Given the description of an element on the screen output the (x, y) to click on. 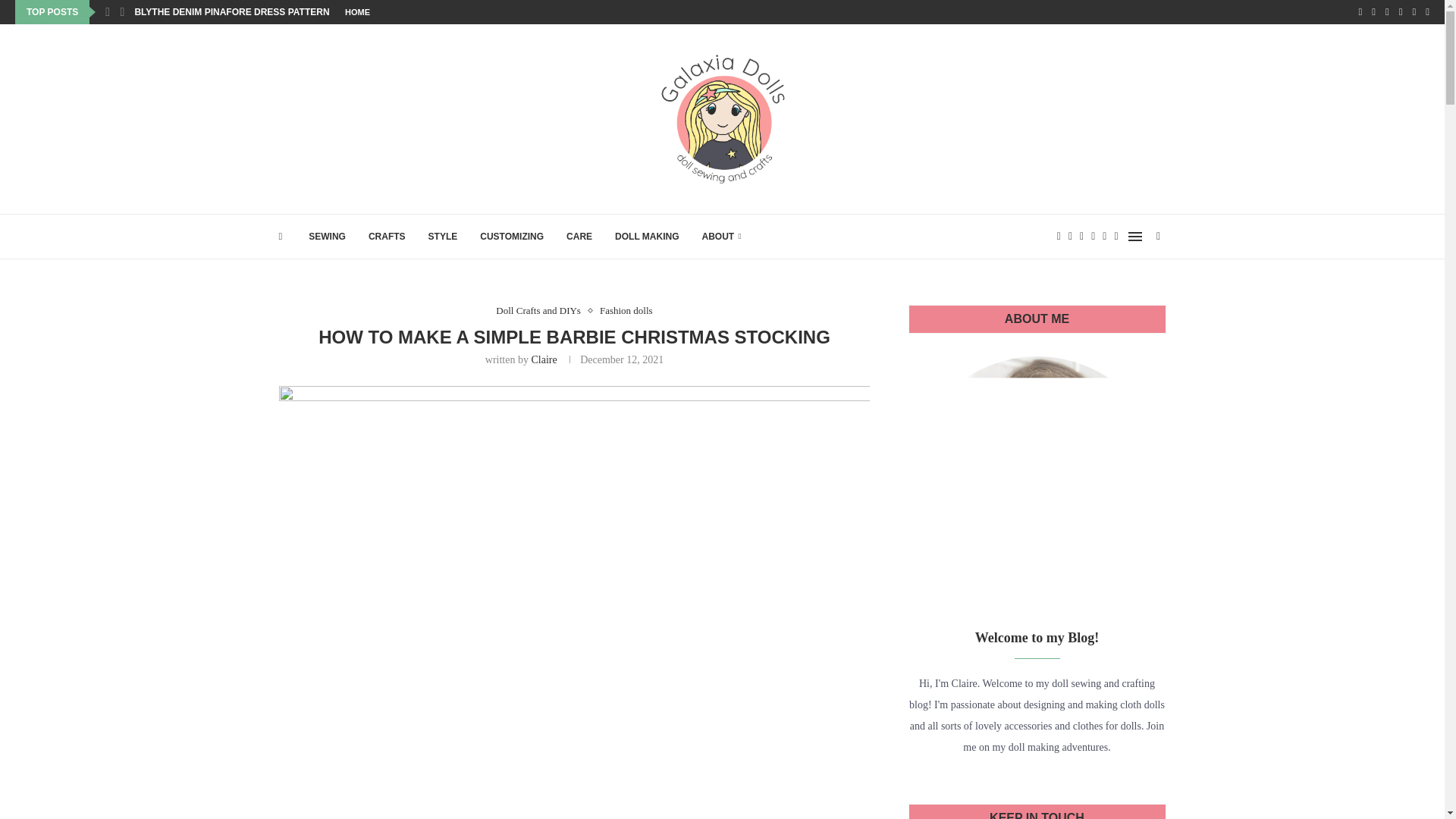
BLYTHE DENIM PINAFORE DRESS PATTERN (231, 12)
CUSTOMIZING (511, 236)
DOLL MAKING (646, 236)
ABOUT (721, 236)
HOME (357, 12)
